Given the description of an element on the screen output the (x, y) to click on. 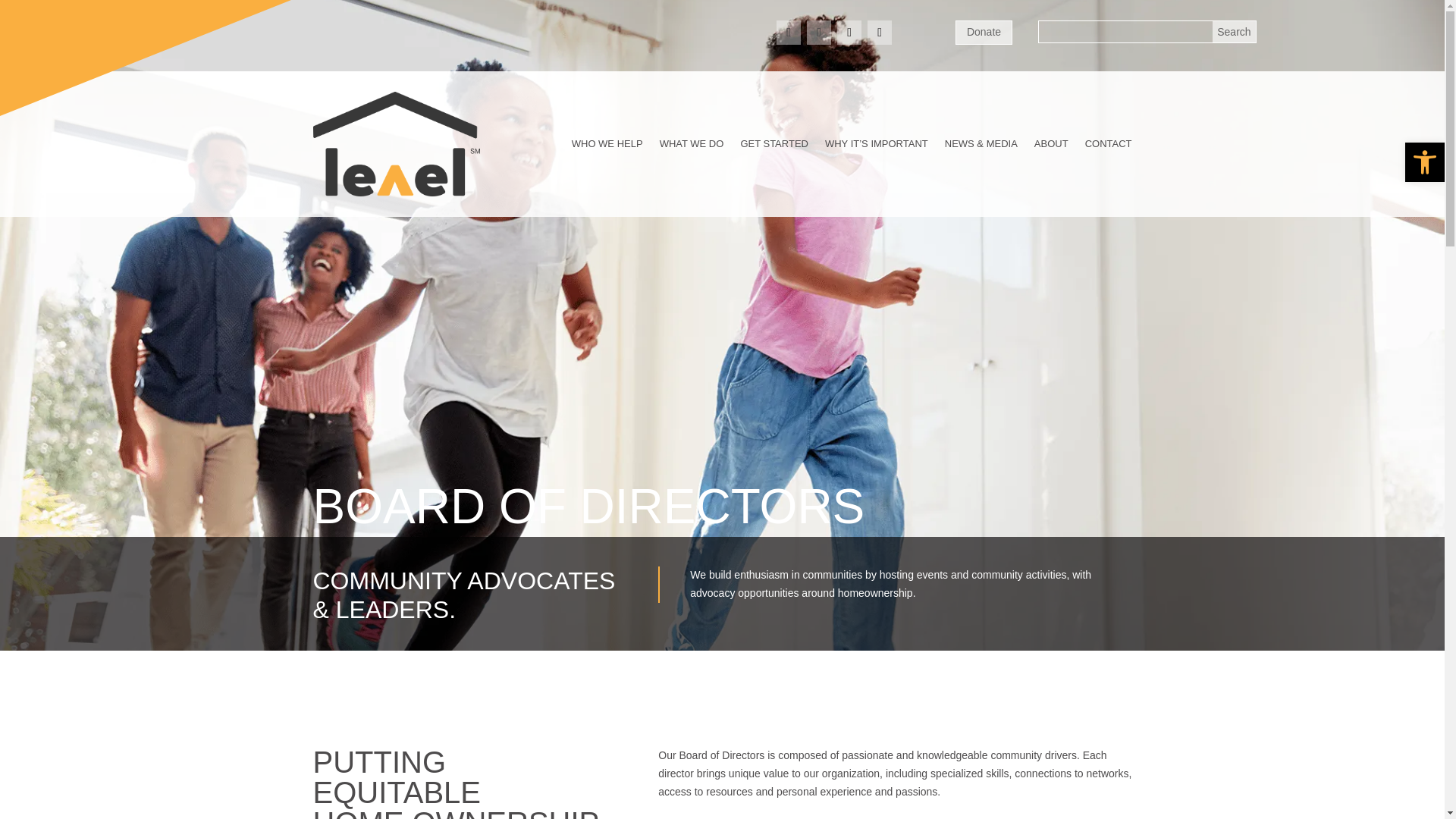
Follow on Instagram (818, 32)
Follow on X (879, 32)
Search (1233, 31)
Search (1233, 31)
Search (1233, 31)
Follow on LinkedIn (849, 32)
Follow on Facebook (788, 32)
Donate (983, 32)
Accessibility Tools (1424, 161)
